Given the description of an element on the screen output the (x, y) to click on. 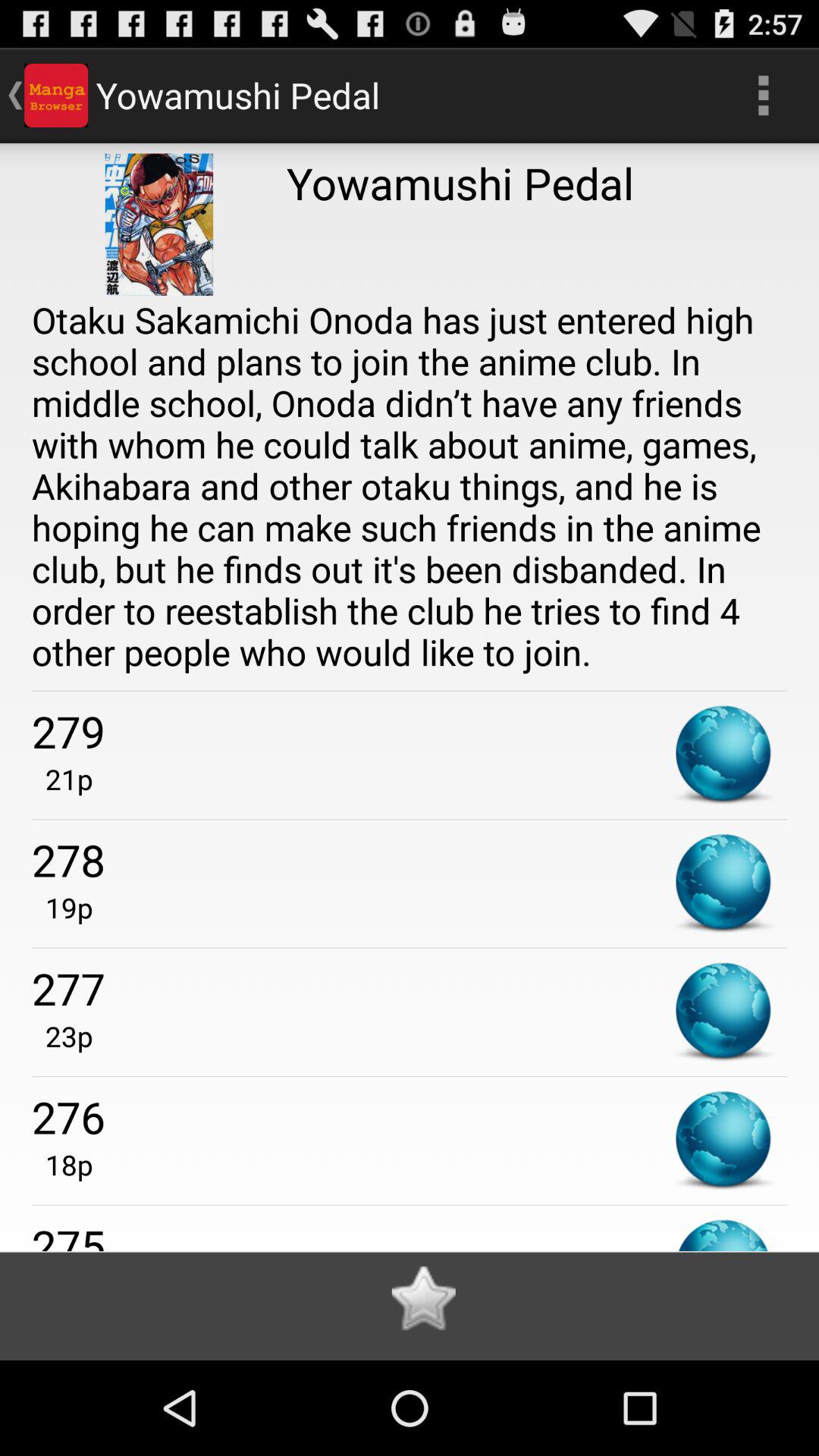
jump until 275 icon (409, 1233)
